Given the description of an element on the screen output the (x, y) to click on. 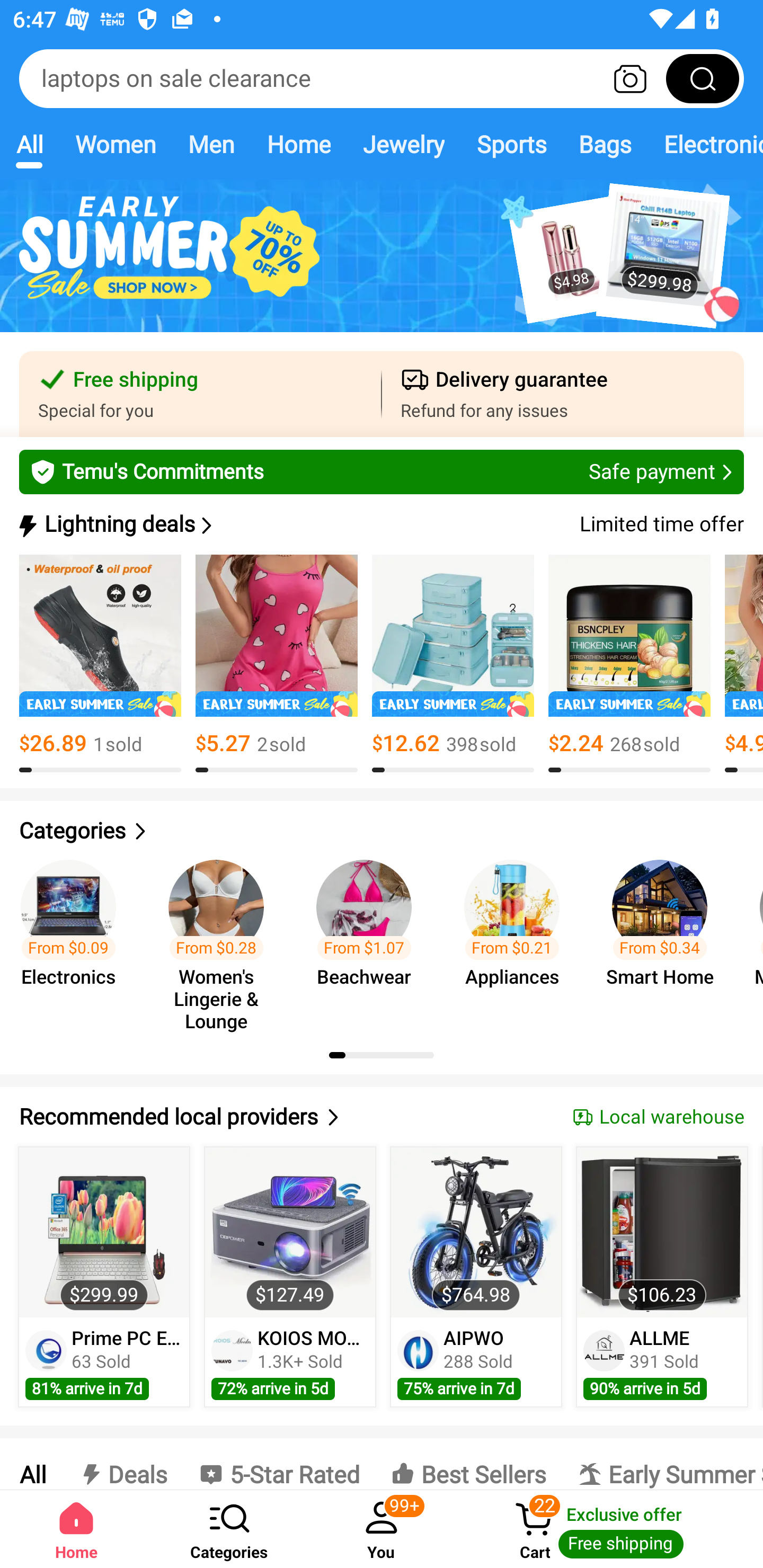
laptops on sale clearance (381, 78)
All (29, 144)
Women (115, 144)
Men (211, 144)
Home (298, 144)
Jewelry (403, 144)
Sports (511, 144)
Bags (605, 144)
Electronics (705, 144)
$4.98 $299.98 (381, 265)
Free shipping Special for you (200, 394)
Delivery guarantee Refund for any issues (562, 394)
Temu's Commitments (381, 471)
Lightning deals Lightning deals Limited time offer (379, 524)
$26.89 1￼sold 8.0 (100, 664)
$5.27 2￼sold 8.0 (276, 664)
$12.62 398￼sold 8.0 (453, 664)
$2.24 268￼sold 8.0 (629, 664)
Categories (381, 830)
From $0.09 Electronics (74, 936)
From $0.28 Women's Lingerie & Lounge (222, 936)
From $1.07 Beachwear (369, 936)
From $0.21 Appliances (517, 936)
From $0.34 Smart Home (665, 936)
$299.99 Prime PC Emporium 63 Sold 81% arrive in 7d (103, 1276)
$764.98 AIPWO 288 Sold 75% arrive in 7d (475, 1276)
$106.23 ALLME 391 Sold 90% arrive in 5d (661, 1276)
$299.99 (104, 1232)
$127.49 (290, 1232)
$764.98 (475, 1232)
$106.23 (661, 1232)
All (32, 1463)
Deals Deals Deals (122, 1463)
5-Star Rated 5-Star Rated 5-Star Rated (279, 1463)
Best Sellers Best Sellers Best Sellers (468, 1463)
Home (76, 1528)
Categories (228, 1528)
You ‎99+‎ You (381, 1528)
Cart 22 Cart Exclusive offer (610, 1528)
